Given the description of an element on the screen output the (x, y) to click on. 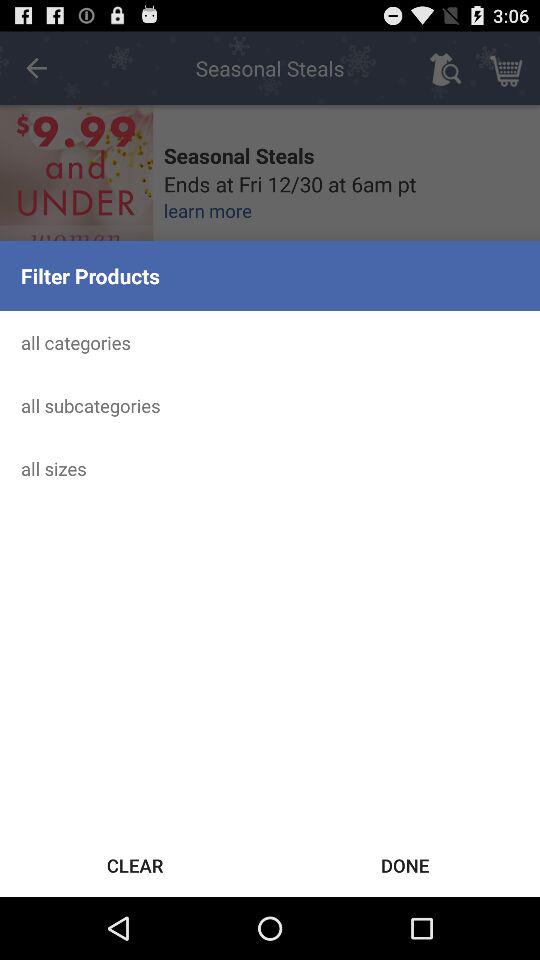
turn on icon below the all sizes (135, 864)
